Given the description of an element on the screen output the (x, y) to click on. 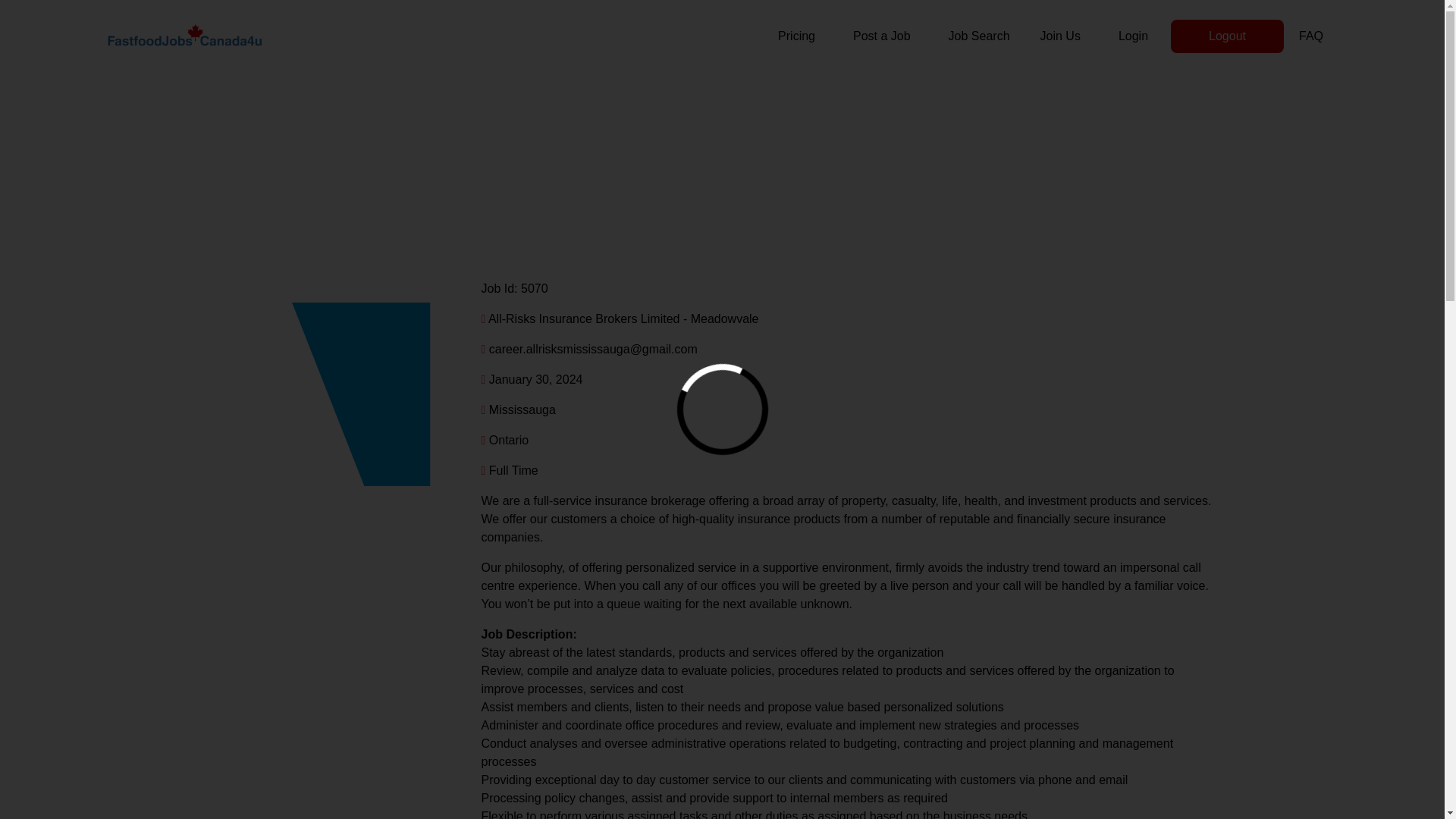
FAQ (1311, 36)
Login (1133, 36)
Join Us (1060, 36)
Pricing (795, 36)
Job Search (979, 36)
Logout (1226, 36)
Post a Job (882, 36)
